Given the description of an element on the screen output the (x, y) to click on. 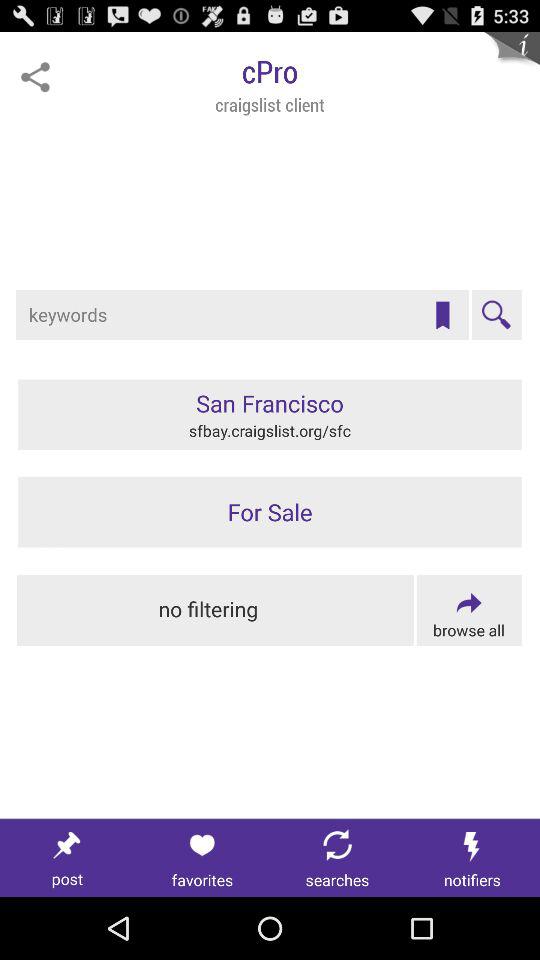
switch for sale option (269, 511)
